Given the description of an element on the screen output the (x, y) to click on. 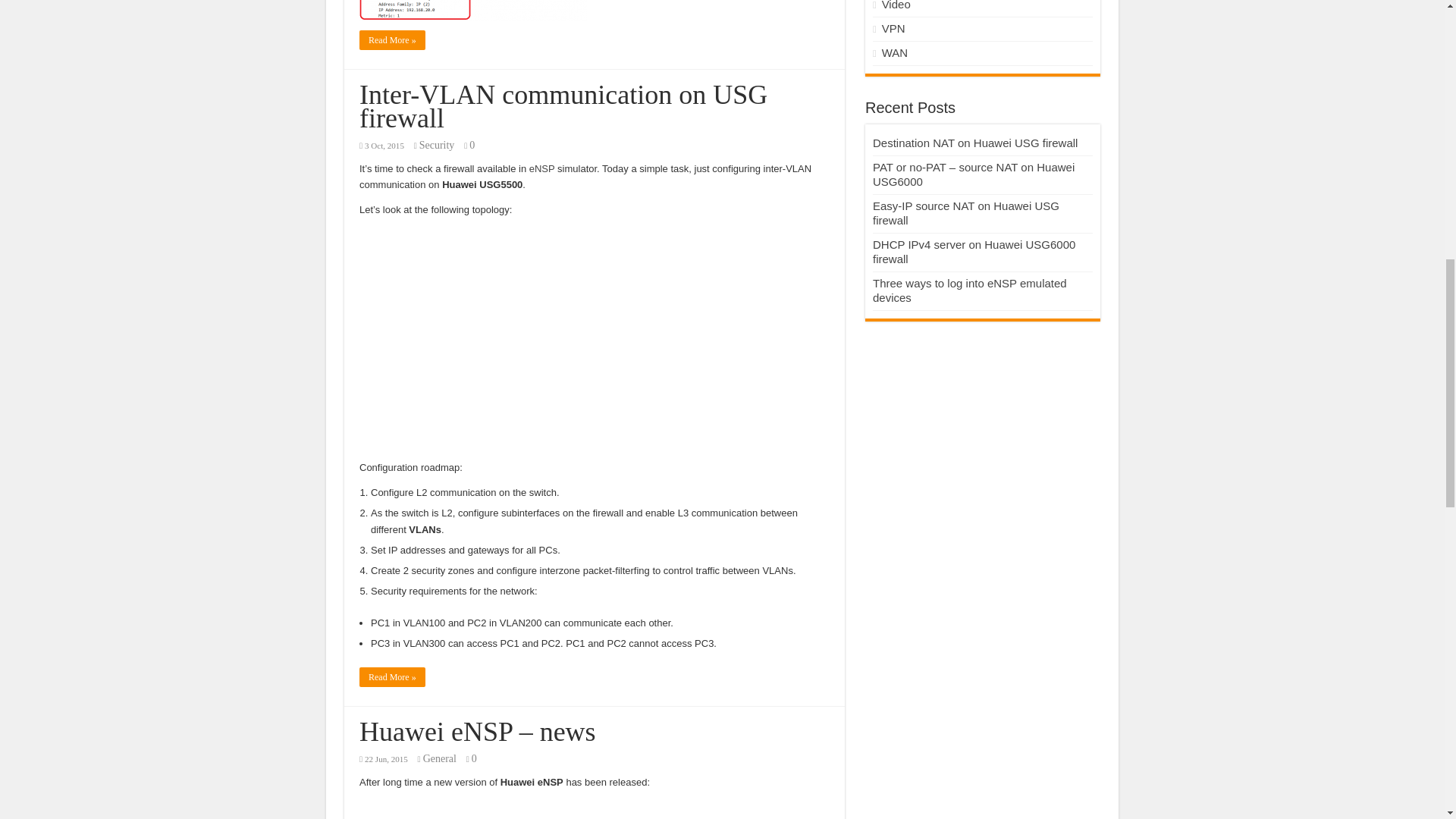
Huawei eNSP simulator (541, 168)
Security (436, 144)
General (440, 758)
Inter-VLAN communication on USG firewall (563, 106)
eNSP (541, 168)
